Given the description of an element on the screen output the (x, y) to click on. 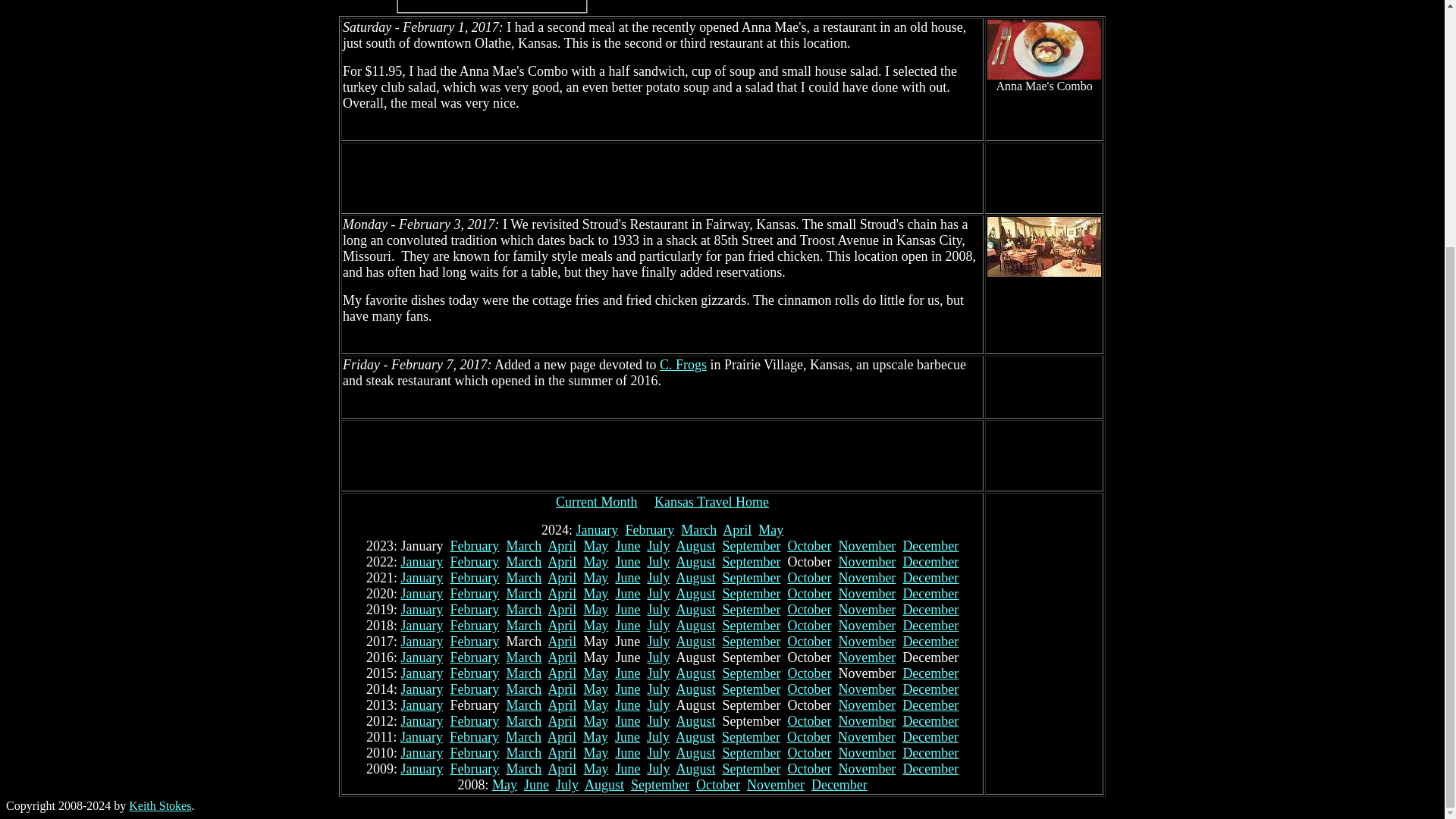
November (866, 561)
May (595, 561)
January (421, 561)
March (523, 577)
December (930, 545)
C. Frogs (682, 364)
August (694, 545)
April (561, 577)
April (561, 561)
April (736, 529)
